Given the description of an element on the screen output the (x, y) to click on. 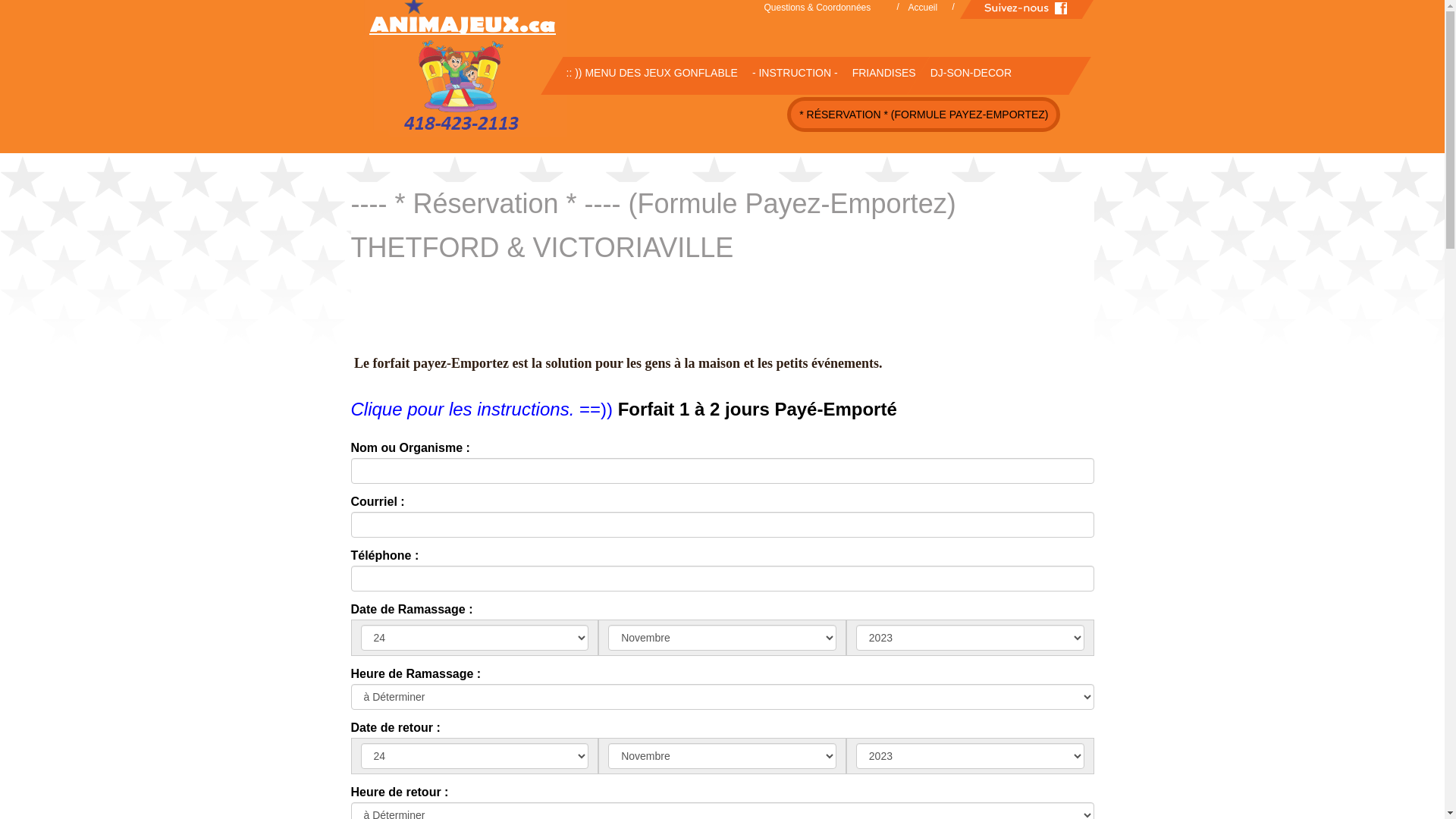
DJ-SON-DECOR Element type: text (963, 72)
Facebook Element type: text (1027, 9)
Animajeux Element type: text (482, 70)
Accueil Element type: text (927, 9)
- INSTRUCTION - Element type: text (787, 72)
:: )) MENU DES JEUX GONFLABLE Element type: text (644, 72)
FRIANDISES Element type: text (877, 72)
